Given the description of an element on the screen output the (x, y) to click on. 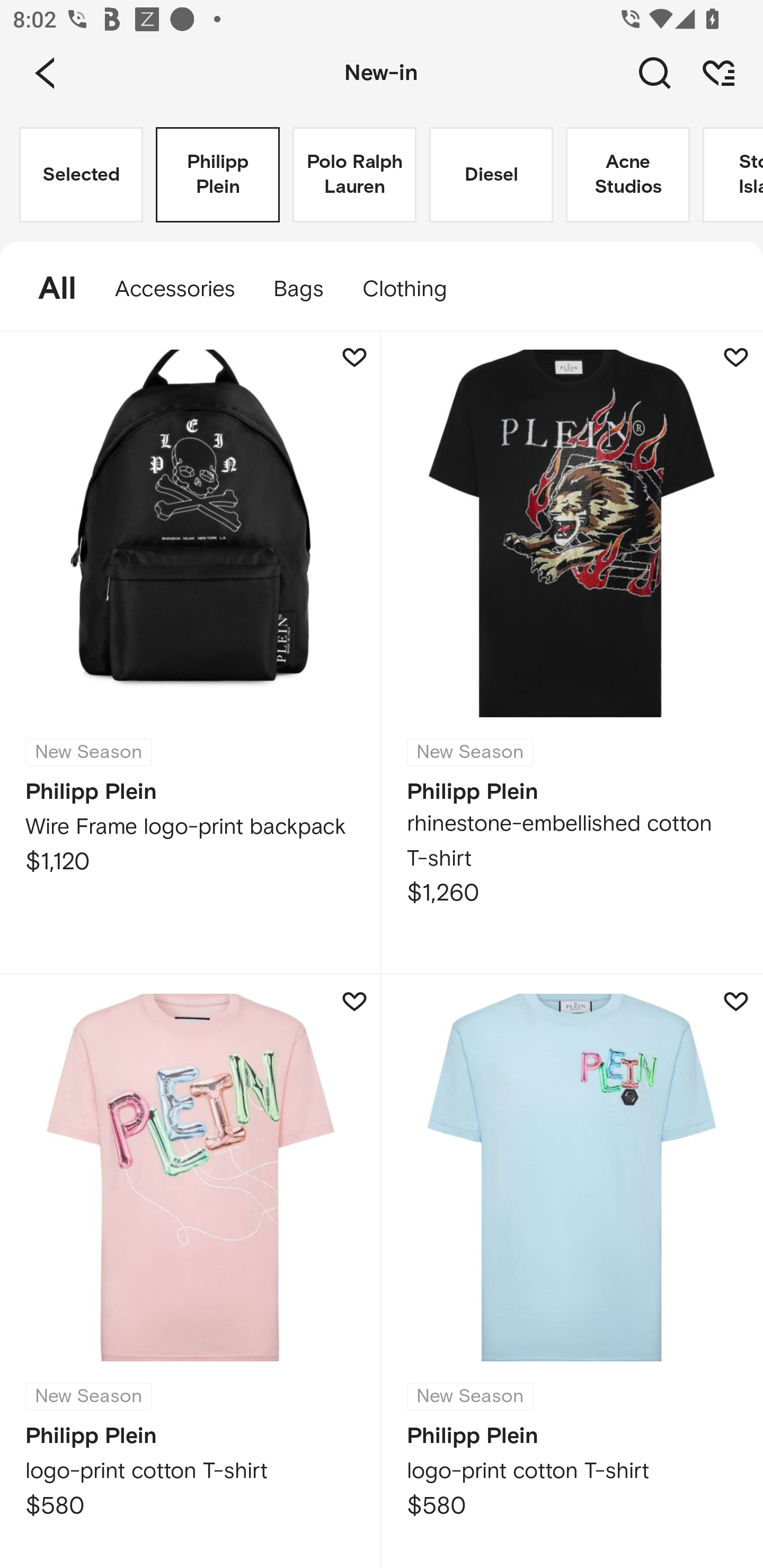
Selected (81, 174)
Philipp Plein (217, 174)
Polo Ralph Lauren (354, 174)
Diesel (490, 174)
Acne Studios (627, 174)
All (47, 288)
Accessories (174, 288)
Bags (298, 288)
Clothing (413, 288)
